Given the description of an element on the screen output the (x, y) to click on. 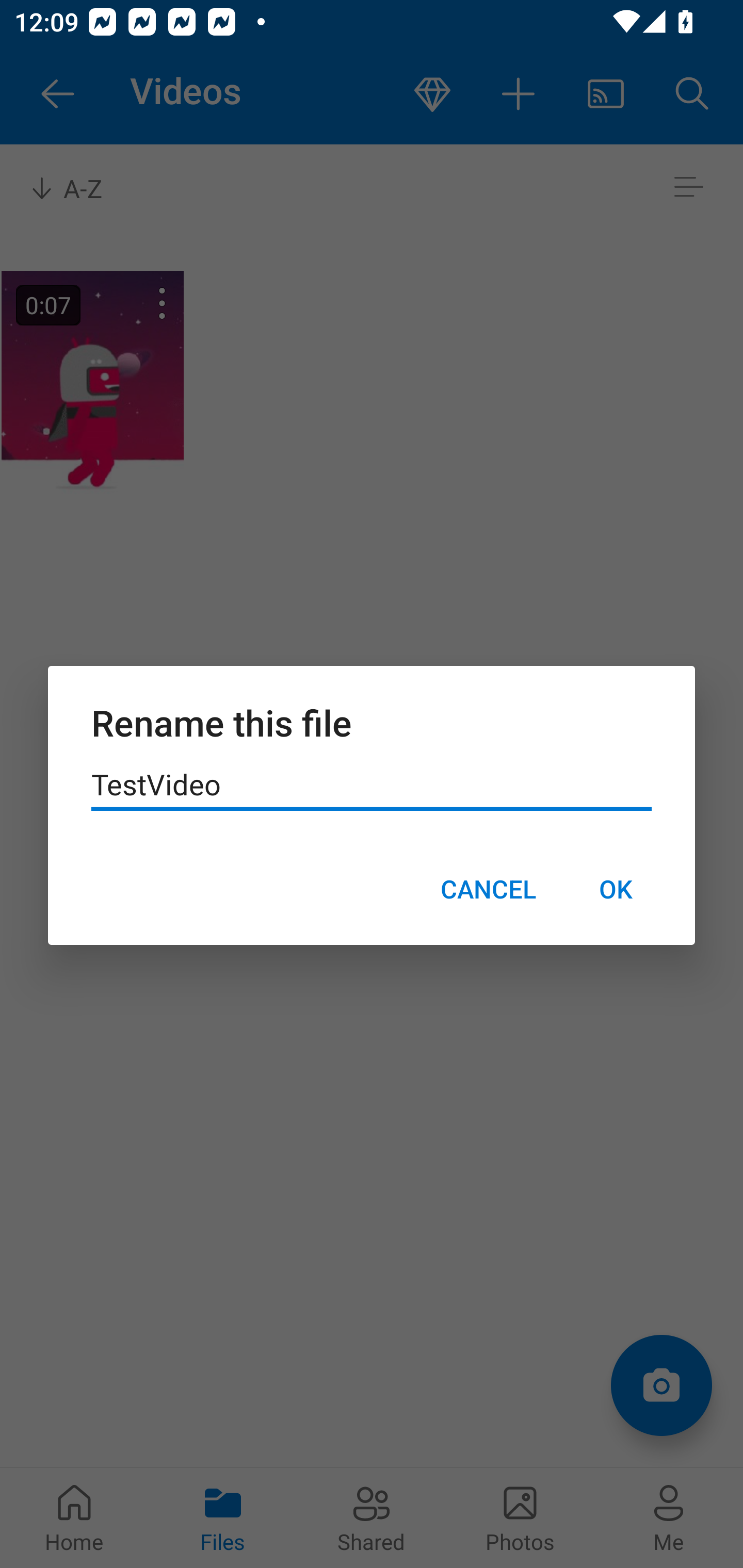
TestVideo (371, 784)
CANCEL (488, 888)
OK (615, 888)
